Given the description of an element on the screen output the (x, y) to click on. 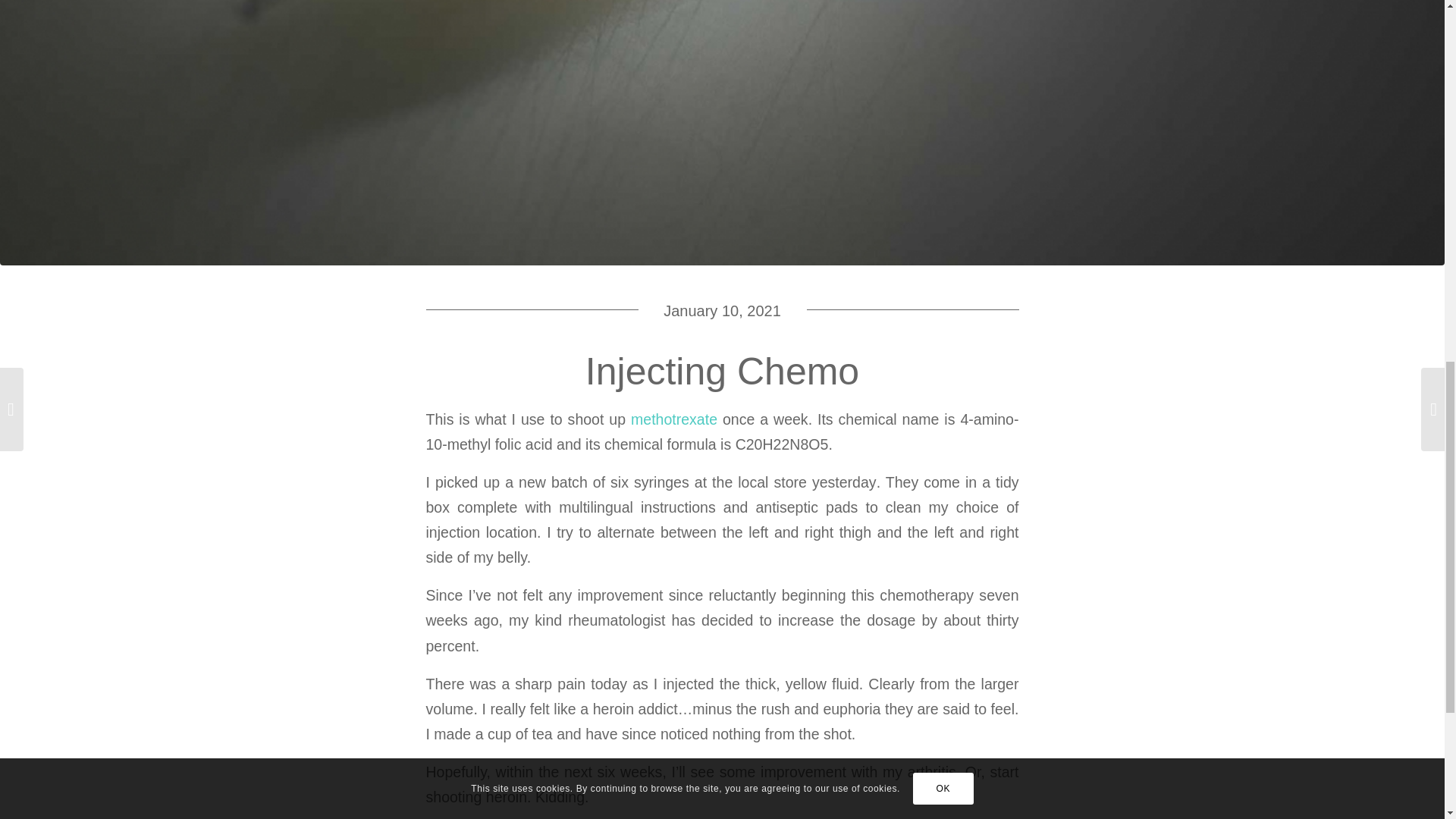
methotrexate (673, 419)
